Given the description of an element on the screen output the (x, y) to click on. 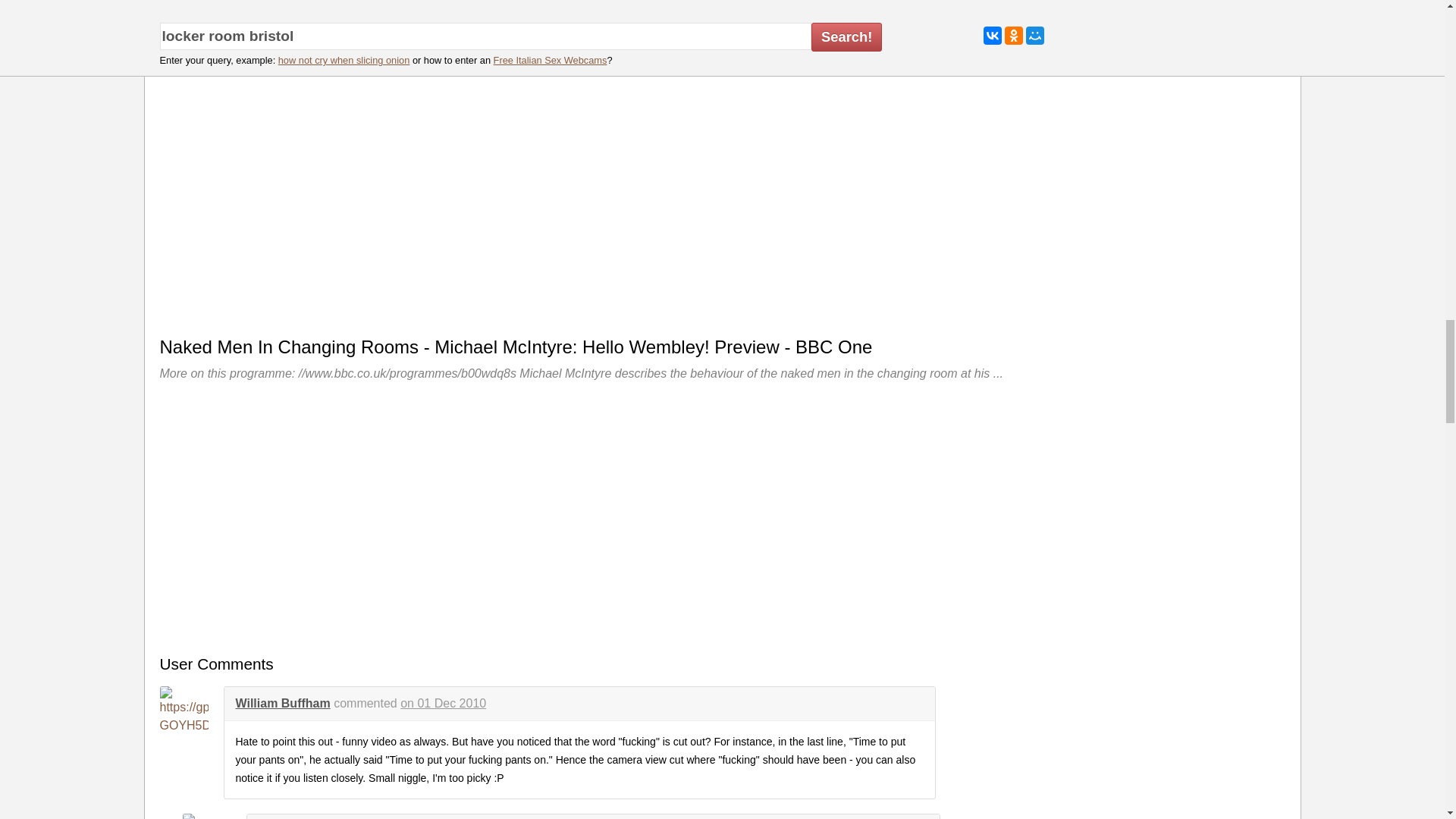
on 01 Dec 2010 (443, 703)
William Buffham (282, 703)
